Given the description of an element on the screen output the (x, y) to click on. 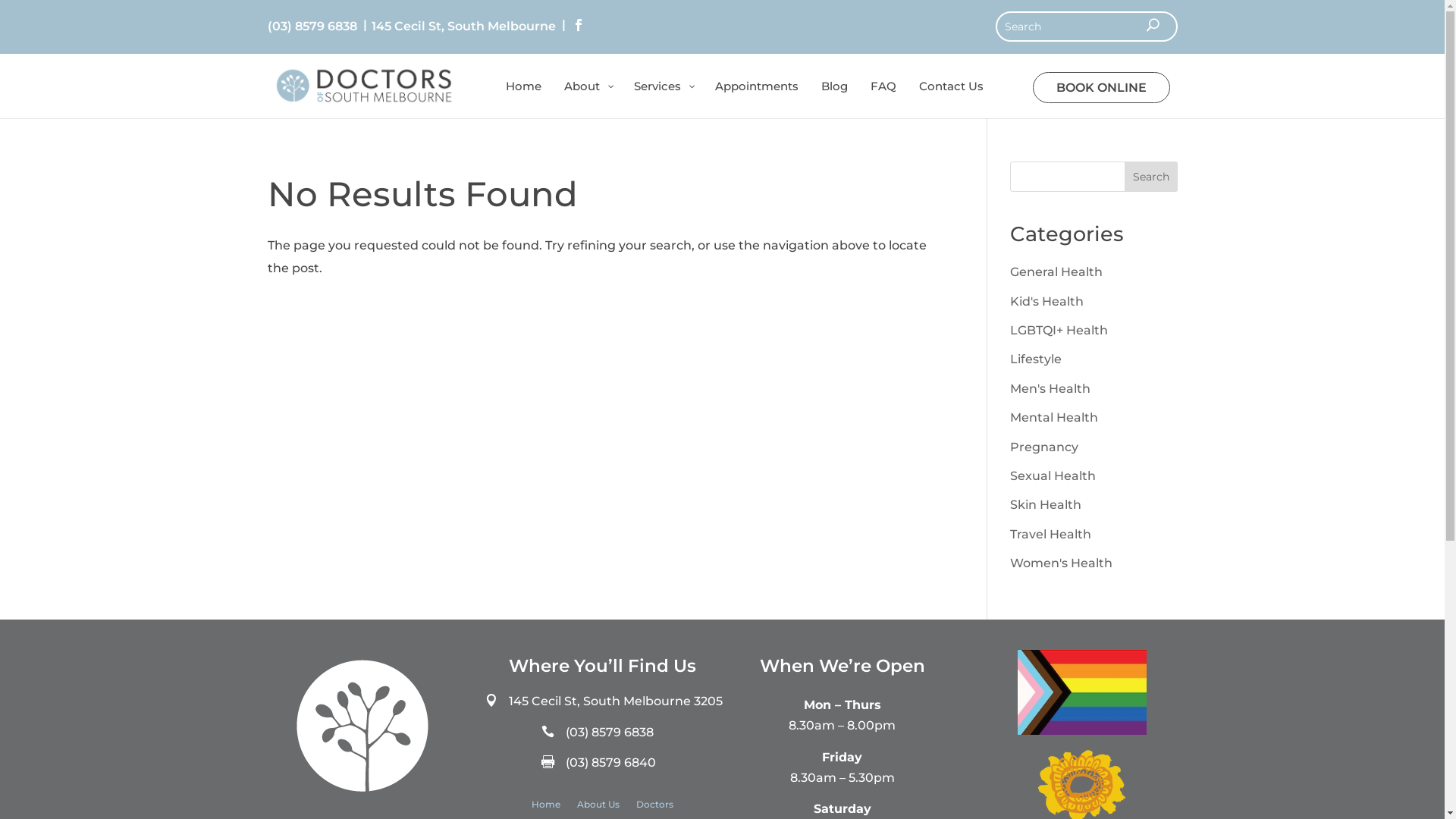
BOOK ONLINE Element type: text (1101, 87)
About Element type: text (586, 98)
(03) 8579 6838 Element type: text (311, 26)
Search Element type: text (1150, 176)
Sexual Health Element type: text (1052, 475)
FAQ Element type: text (882, 98)
(03) 8579 6838 Element type: text (609, 731)
Women's Health Element type: text (1061, 562)
Skin Health Element type: text (1045, 504)
Contact Us Element type: text (950, 98)
About Us Element type: text (598, 807)
Doctors Element type: text (654, 807)
Lifestyle Element type: text (1035, 358)
Blog Element type: text (834, 98)
General Health Element type: text (1056, 271)
Men's Health Element type: text (1050, 388)
LGBTQI+ Health Element type: text (1058, 330)
Kid's Health Element type: text (1046, 301)
Travel Health Element type: text (1050, 534)
Mental Health Element type: text (1054, 417)
Pregnancy Element type: text (1044, 446)
LGBT Trans flag Element type: hover (1081, 691)
Appointments Element type: text (756, 98)
145 Cecil St, South Melbourne Element type: text (463, 26)
Services Element type: text (661, 98)
Home Element type: text (523, 98)
Home Element type: text (545, 807)
